Given the description of an element on the screen output the (x, y) to click on. 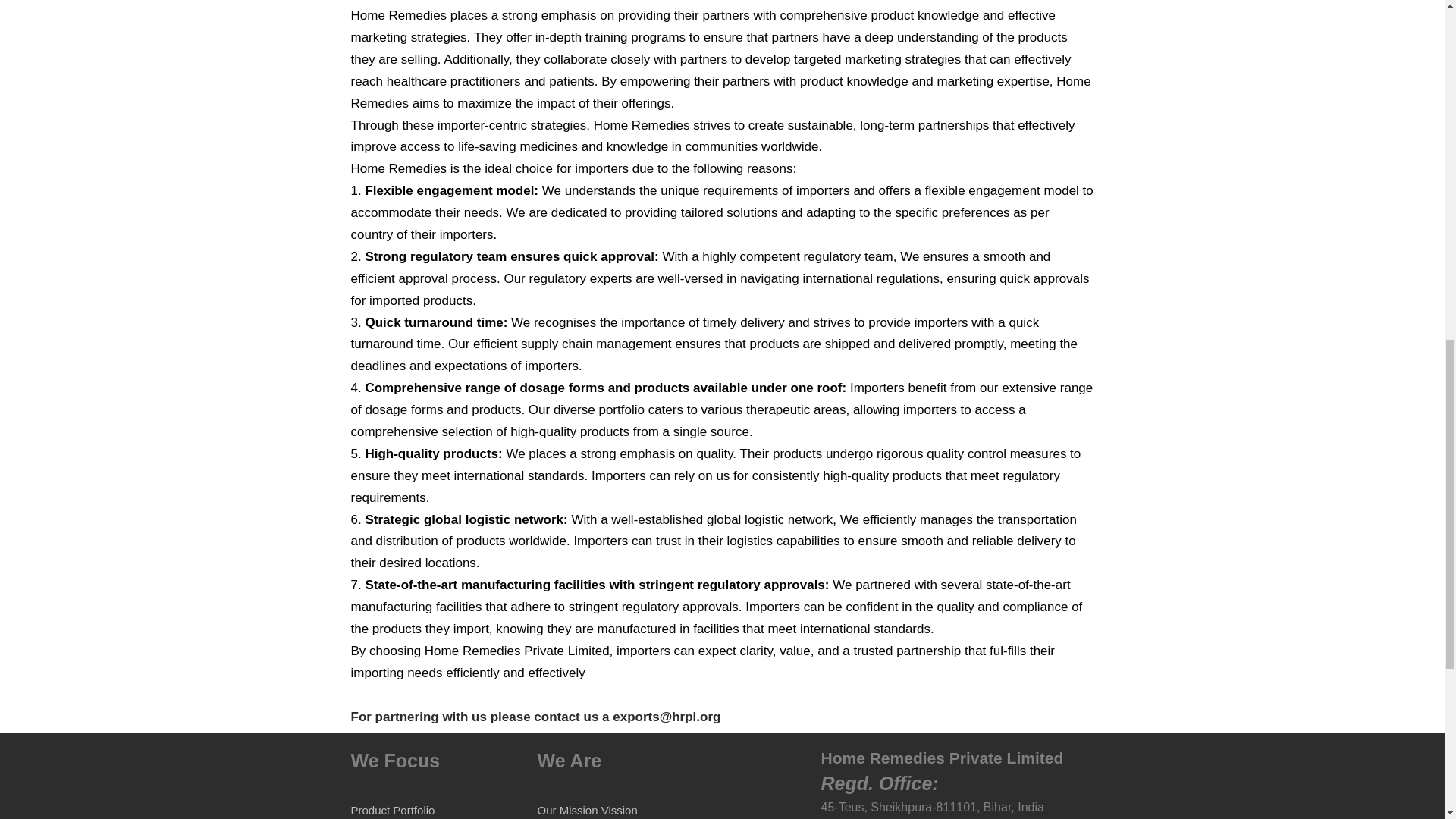
Product Portfolio (391, 809)
Our Mission Vission (587, 809)
We Are (569, 759)
We Focus (394, 759)
